Given the description of an element on the screen output the (x, y) to click on. 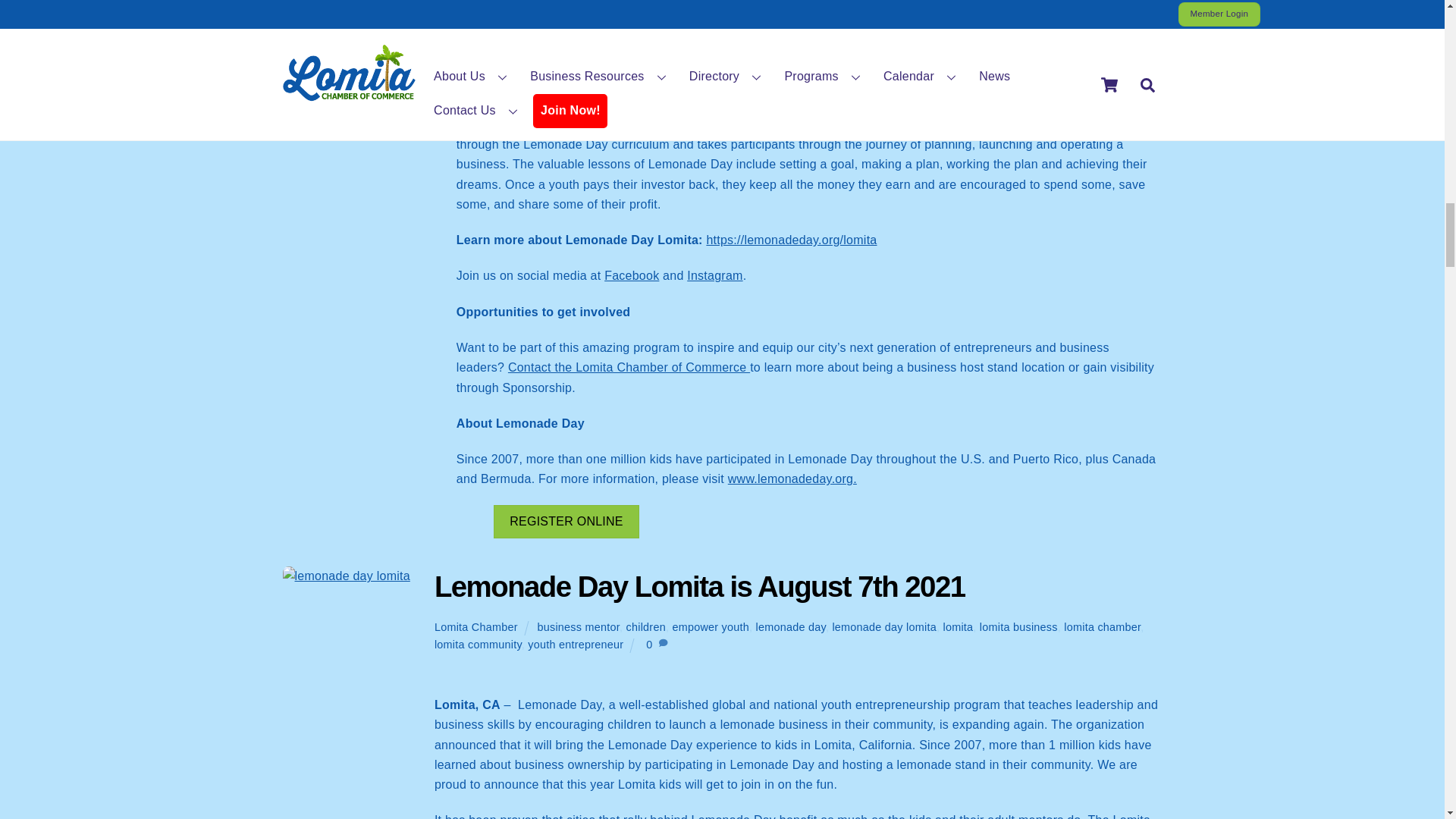
lemonade day lomita (345, 576)
